Given the description of an element on the screen output the (x, y) to click on. 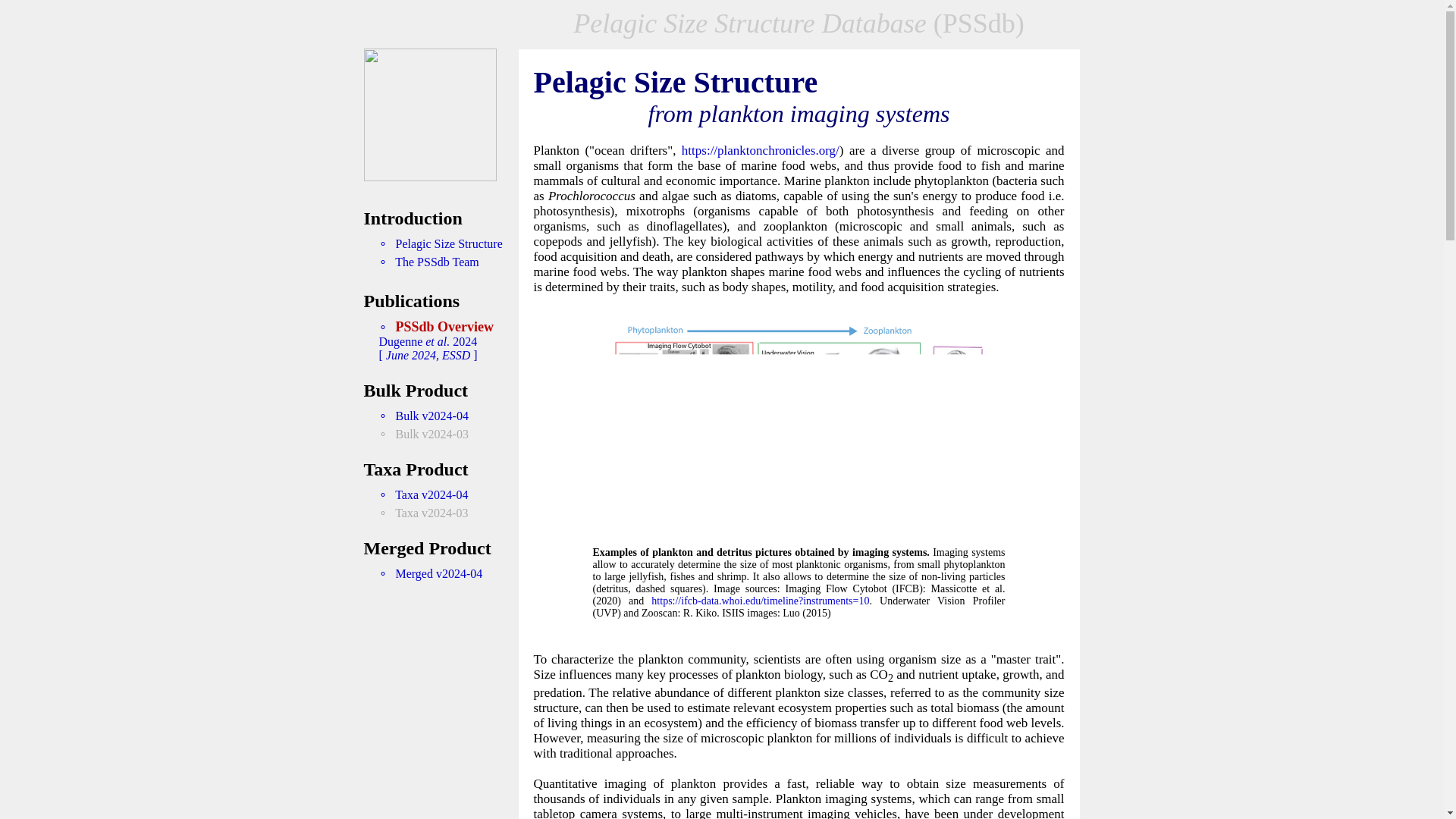
who is behind the PSSdb (428, 261)
click to zoom (799, 524)
a brief summary of the PSSdb project (440, 243)
go back to main menu (430, 176)
